Given the description of an element on the screen output the (x, y) to click on. 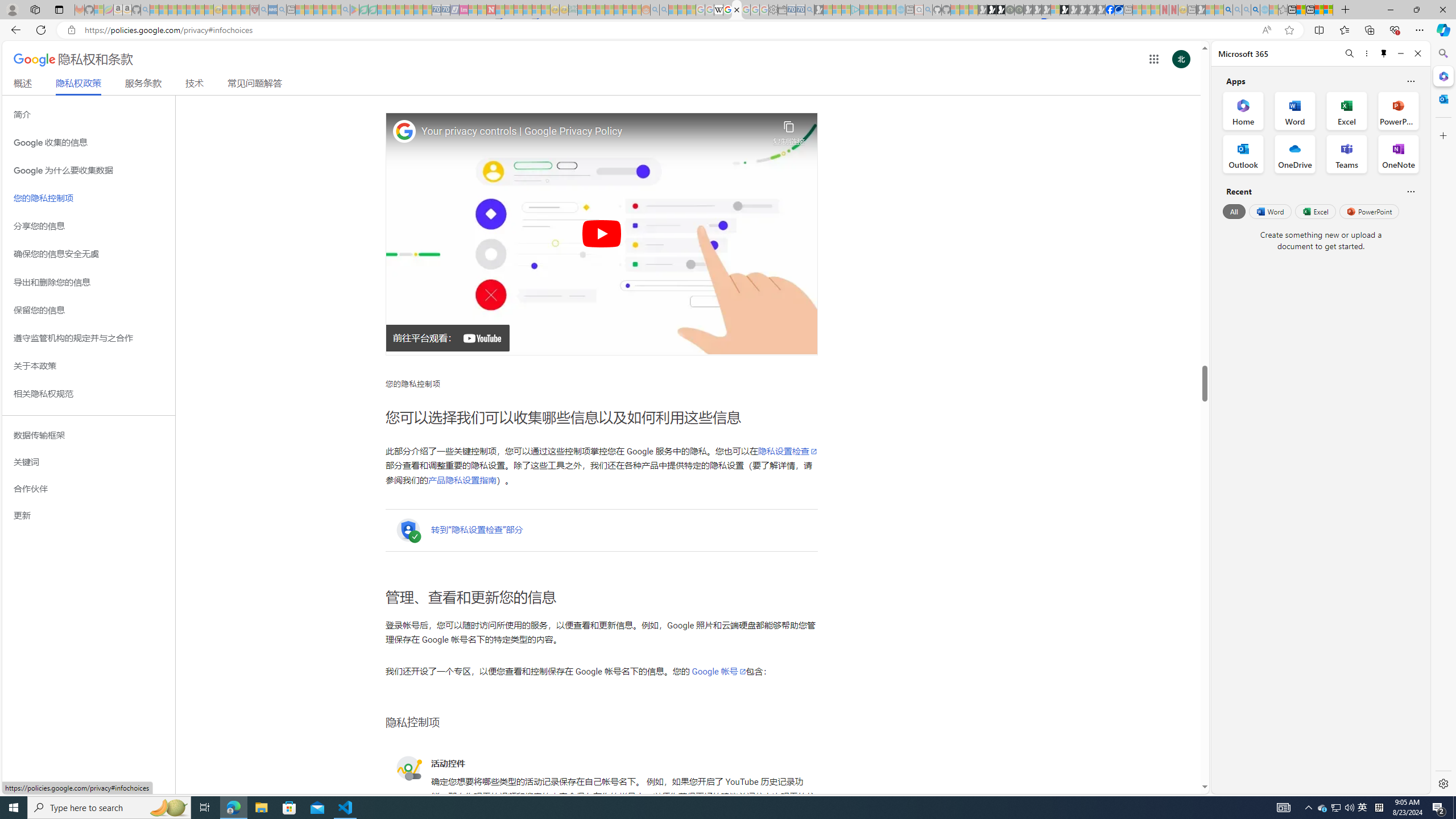
Google Chrome Internet Browser Download - Search Images (1255, 9)
Home Office App (1243, 110)
Word (1269, 210)
